Given the description of an element on the screen output the (x, y) to click on. 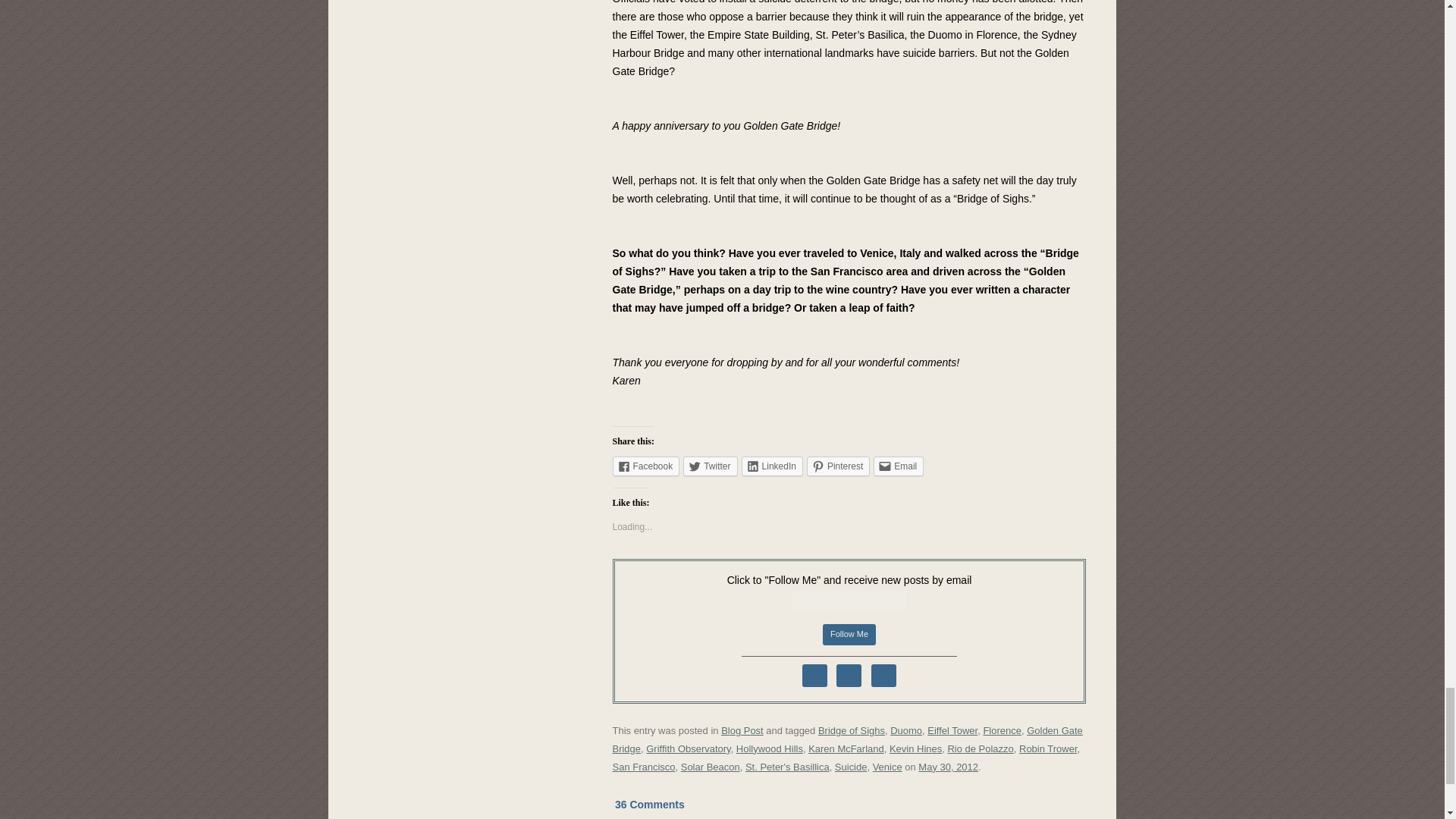
Click to share on Twitter (709, 465)
Email (898, 465)
LinkedIn (772, 465)
Click to share on Facebook (645, 465)
Facebook (645, 465)
Click to share on LinkedIn (772, 465)
Twitter (709, 465)
Pinterest (837, 465)
Follow Me (849, 634)
